Given the description of an element on the screen output the (x, y) to click on. 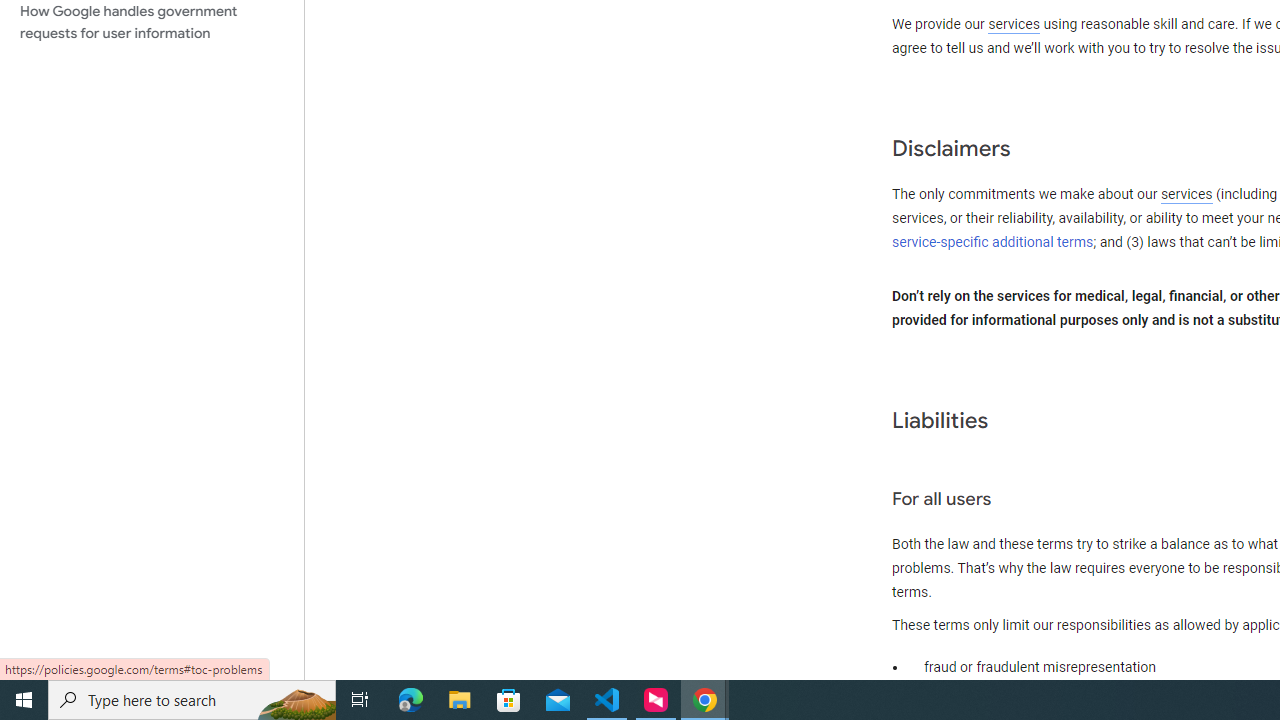
services (1186, 195)
service-specific additional terms (993, 242)
